Given the description of an element on the screen output the (x, y) to click on. 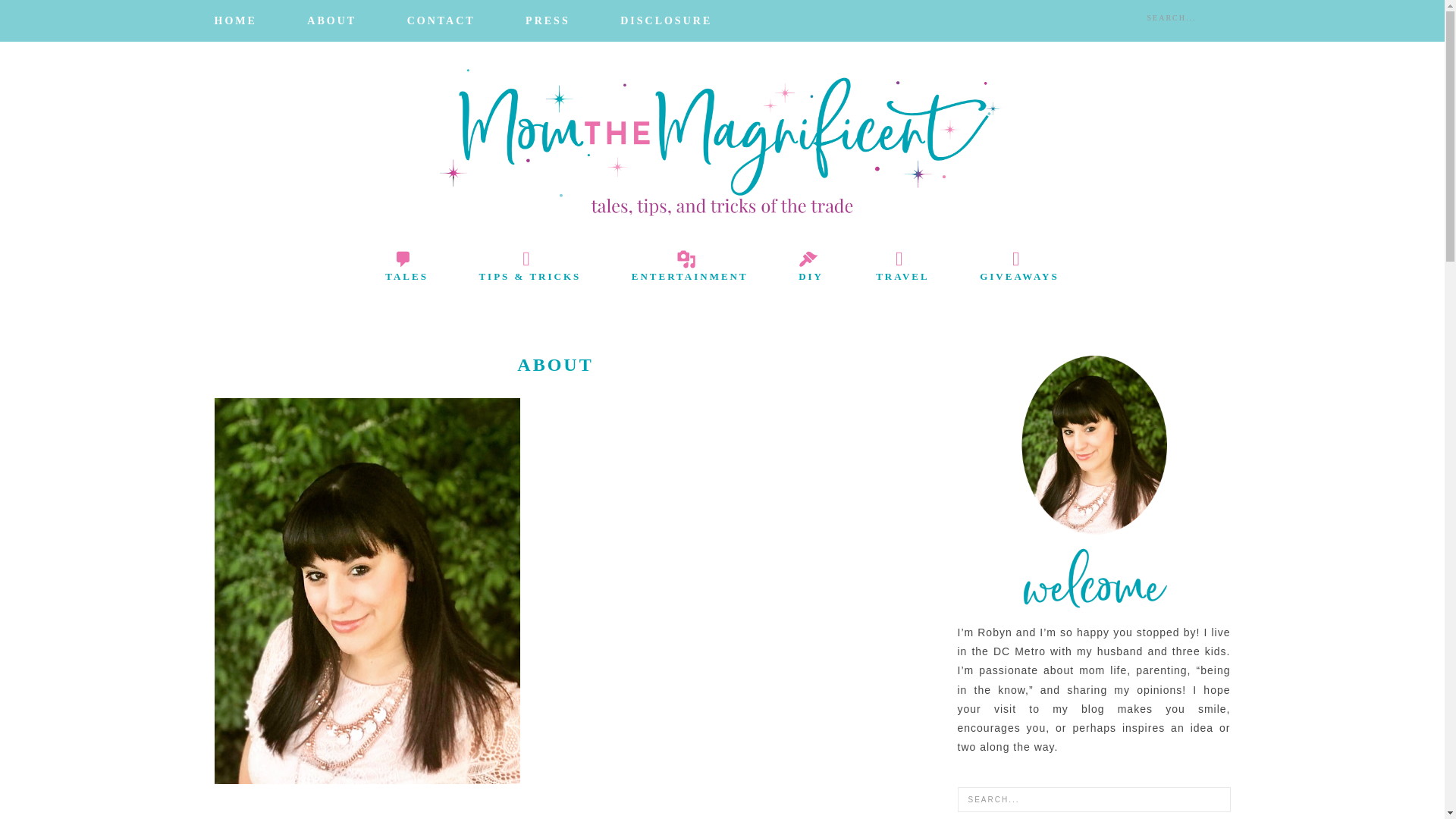
DIY (812, 269)
ENTERTAINMENT (689, 269)
HOME (234, 20)
TALES (406, 269)
CONTACT (440, 20)
ABOUT (330, 20)
PRESS (547, 20)
GIVEAWAYS (1018, 269)
MOM THE MAGNIFICENT (722, 141)
DISCLOSURE (665, 20)
TRAVEL (902, 269)
